Given the description of an element on the screen output the (x, y) to click on. 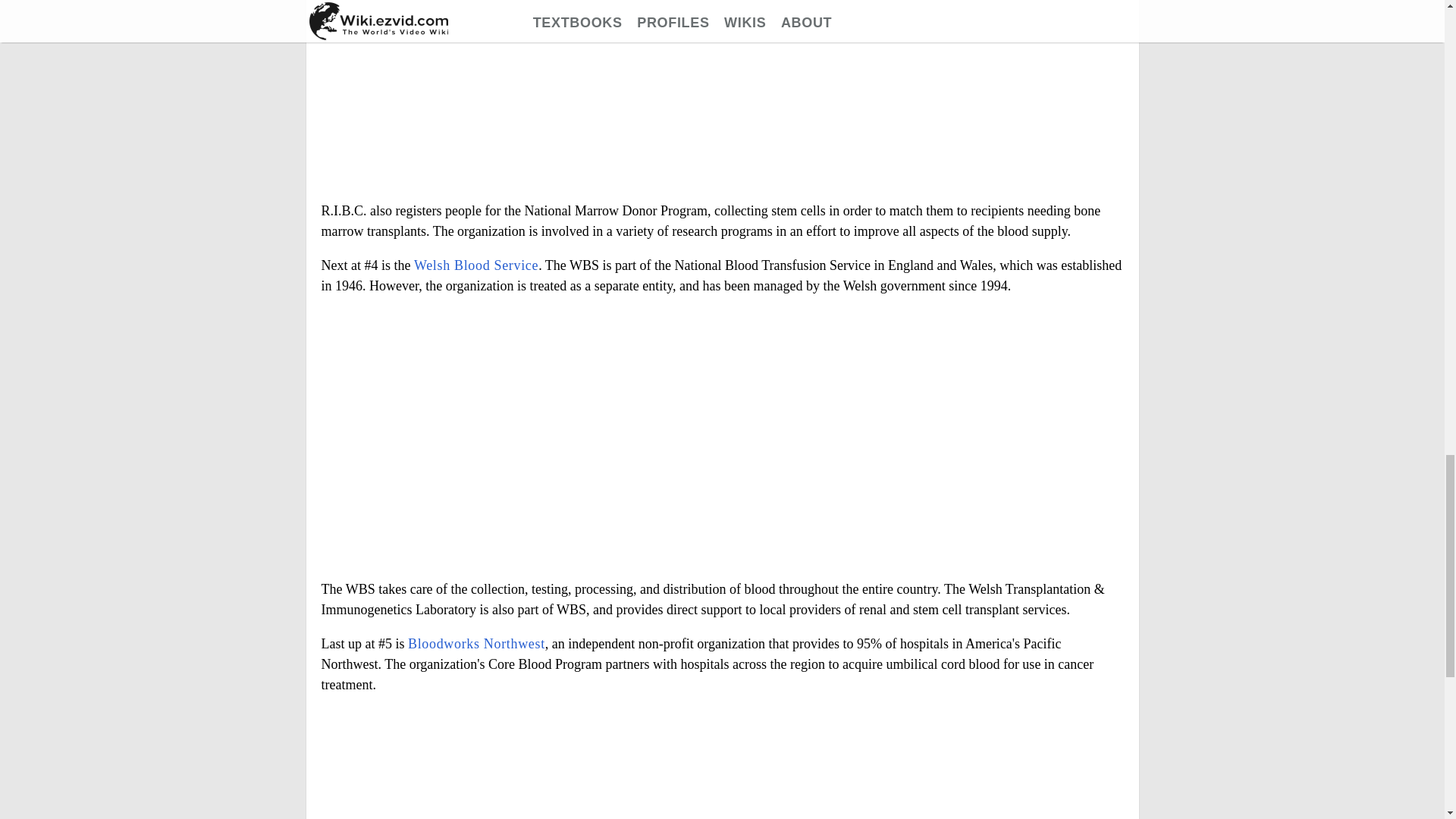
Bloodworks Northwest (475, 643)
Welsh Blood Service (475, 264)
